Given the description of an element on the screen output the (x, y) to click on. 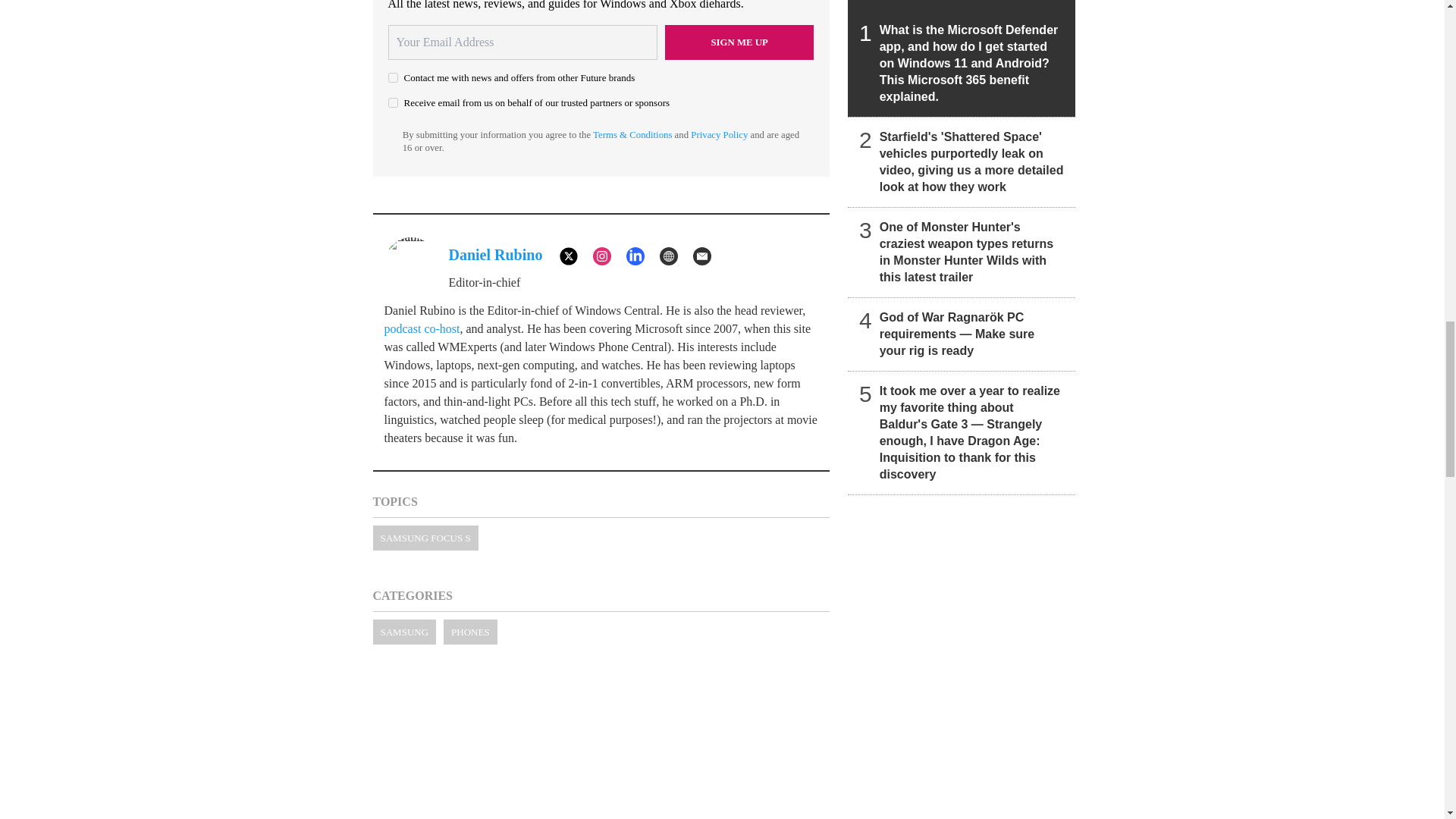
Sign me up (739, 42)
Sign me up (739, 42)
Daniel Rubino (495, 254)
Privacy Policy (719, 134)
on (392, 77)
on (392, 102)
